Given the description of an element on the screen output the (x, y) to click on. 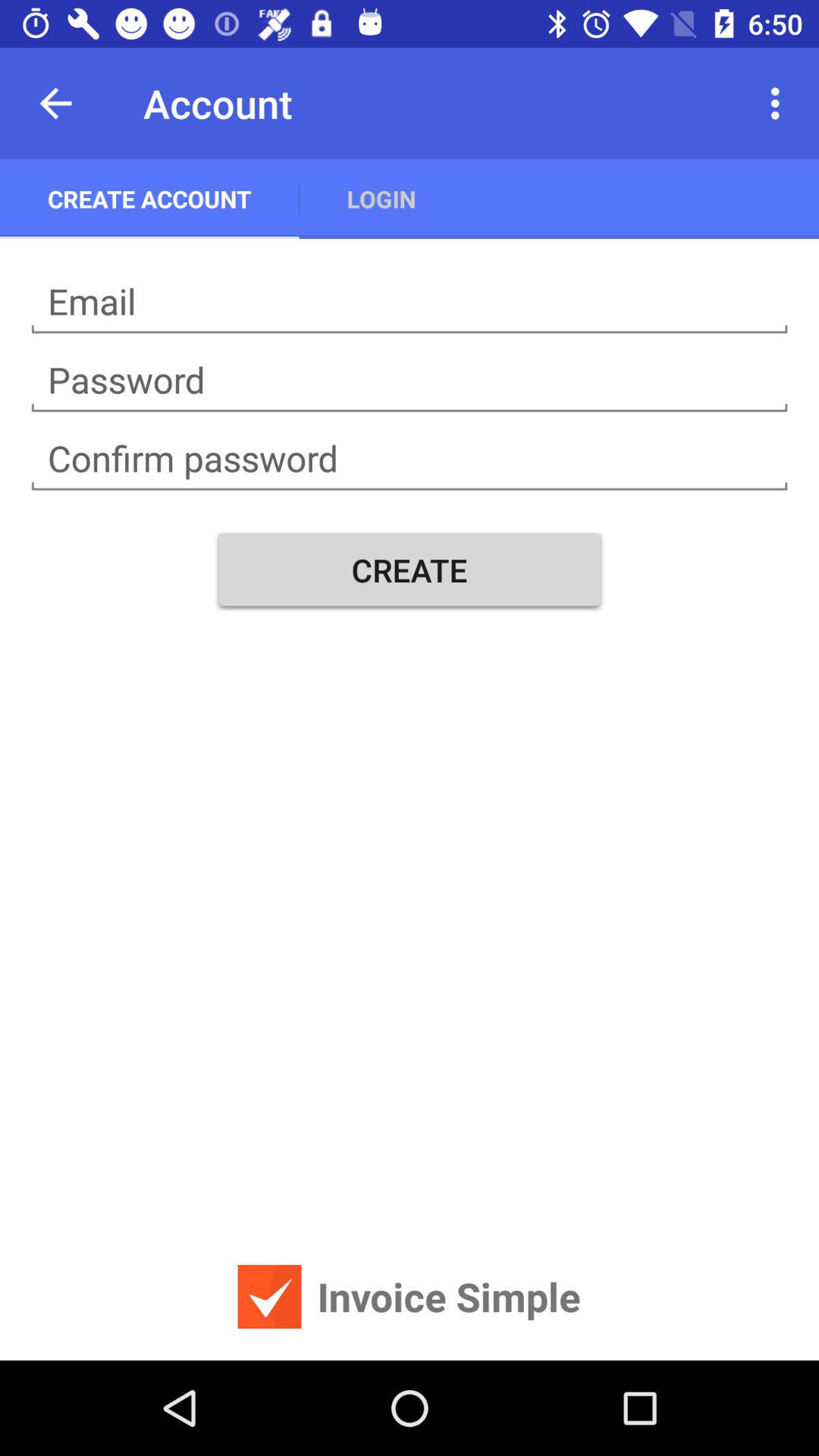
input password (409, 458)
